Given the description of an element on the screen output the (x, y) to click on. 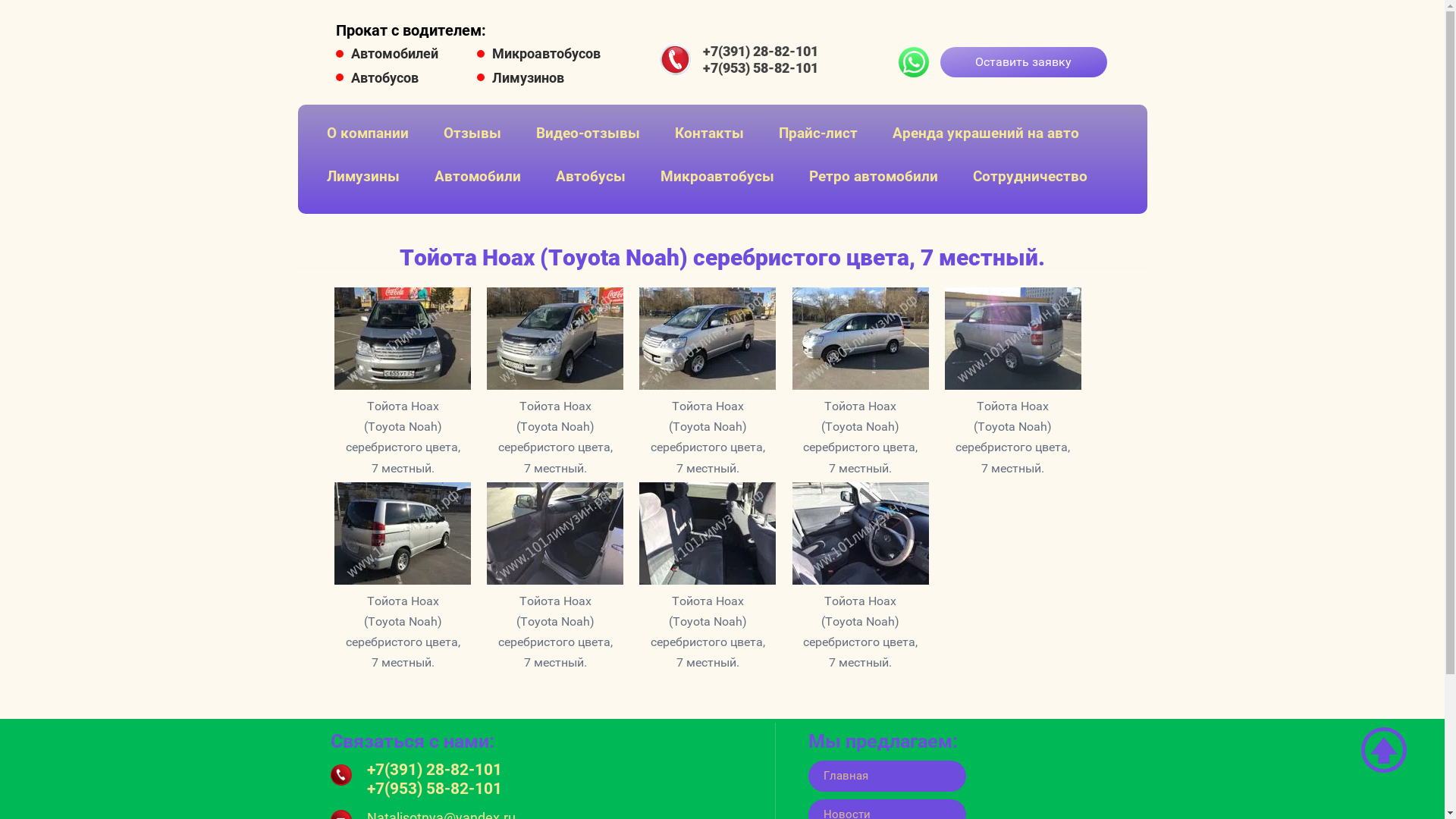
+7(391) 28-82-101 Element type: text (434, 769)
+7(391) 28-82-101 Element type: text (760, 51)
+7(953) 58-82-101 Element type: text (434, 788)
+7(953) 58-82-101 Element type: text (760, 67)
